Given the description of an element on the screen output the (x, y) to click on. 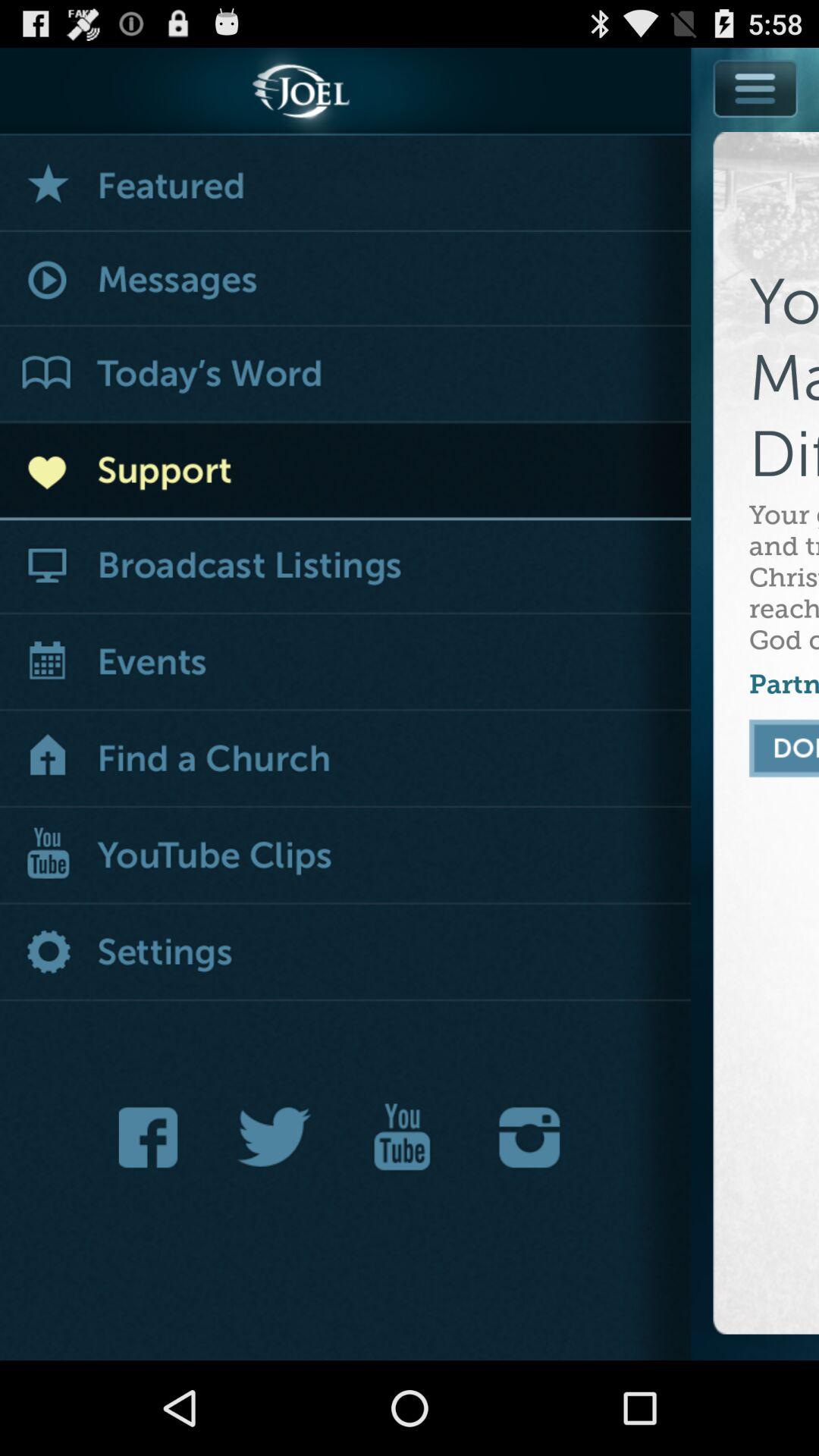
go to messages (345, 280)
